Given the description of an element on the screen output the (x, y) to click on. 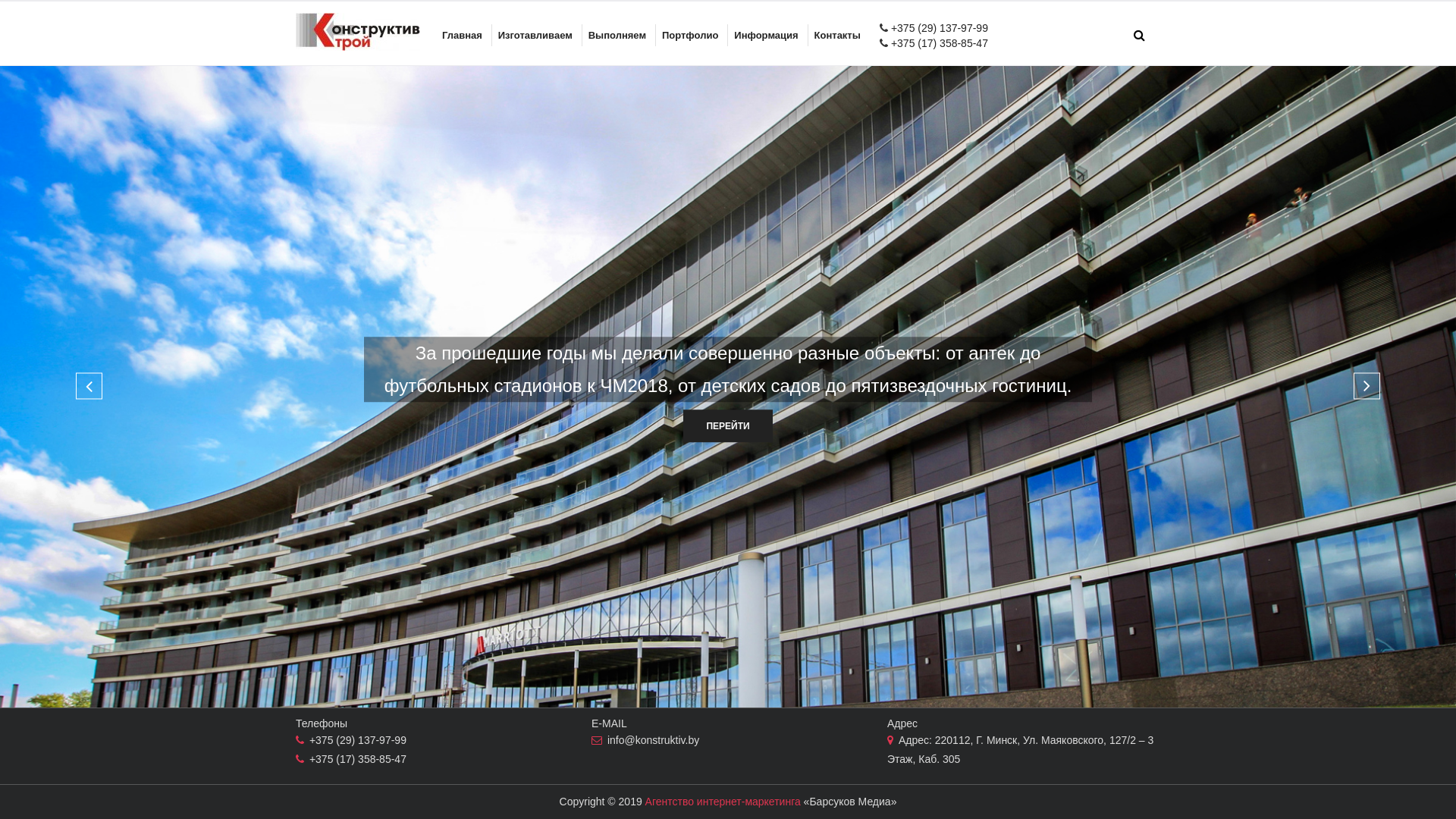
+375 (29) 137-97-99 Element type: text (354, 18)
info@konstruktiv.by Element type: text (653, 740)
Previous Element type: text (88, 385)
+375 (29) 137-97-99 Element type: text (938, 27)
+375 (17) 358-85-47 Element type: text (1110, 18)
+375 (17) 358-85-47 Element type: text (938, 43)
+375 (17) 358-85-47 Element type: text (357, 759)
+375 (29) 137-97-99 Element type: text (357, 740)
